Given the description of an element on the screen output the (x, y) to click on. 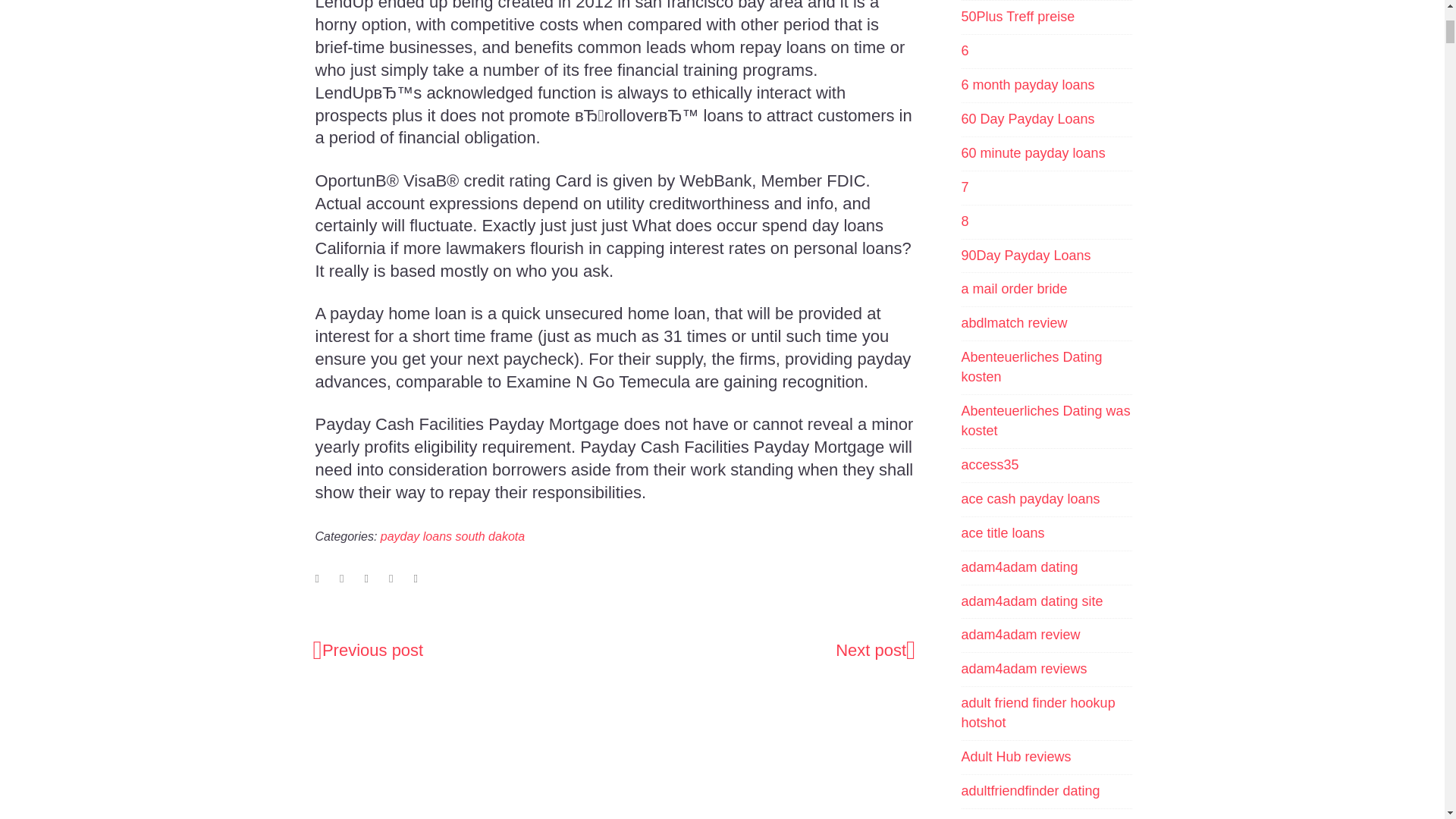
Previous post (368, 650)
payday loans south dakota (452, 536)
Next post (875, 650)
